Given the description of an element on the screen output the (x, y) to click on. 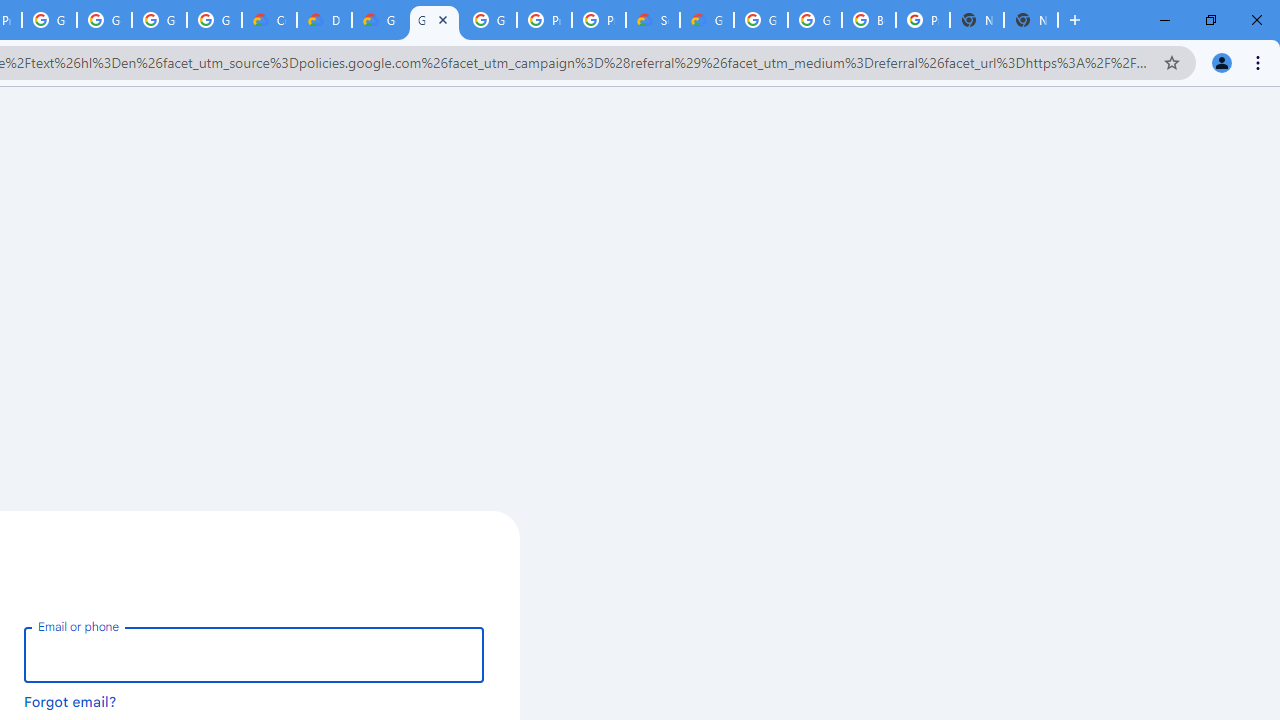
New Tab (1030, 20)
Google Workspace - Specific Terms (158, 20)
Google Cloud Platform (489, 20)
Google Cloud Platform (815, 20)
Customer Care | Google Cloud (268, 20)
